Given the description of an element on the screen output the (x, y) to click on. 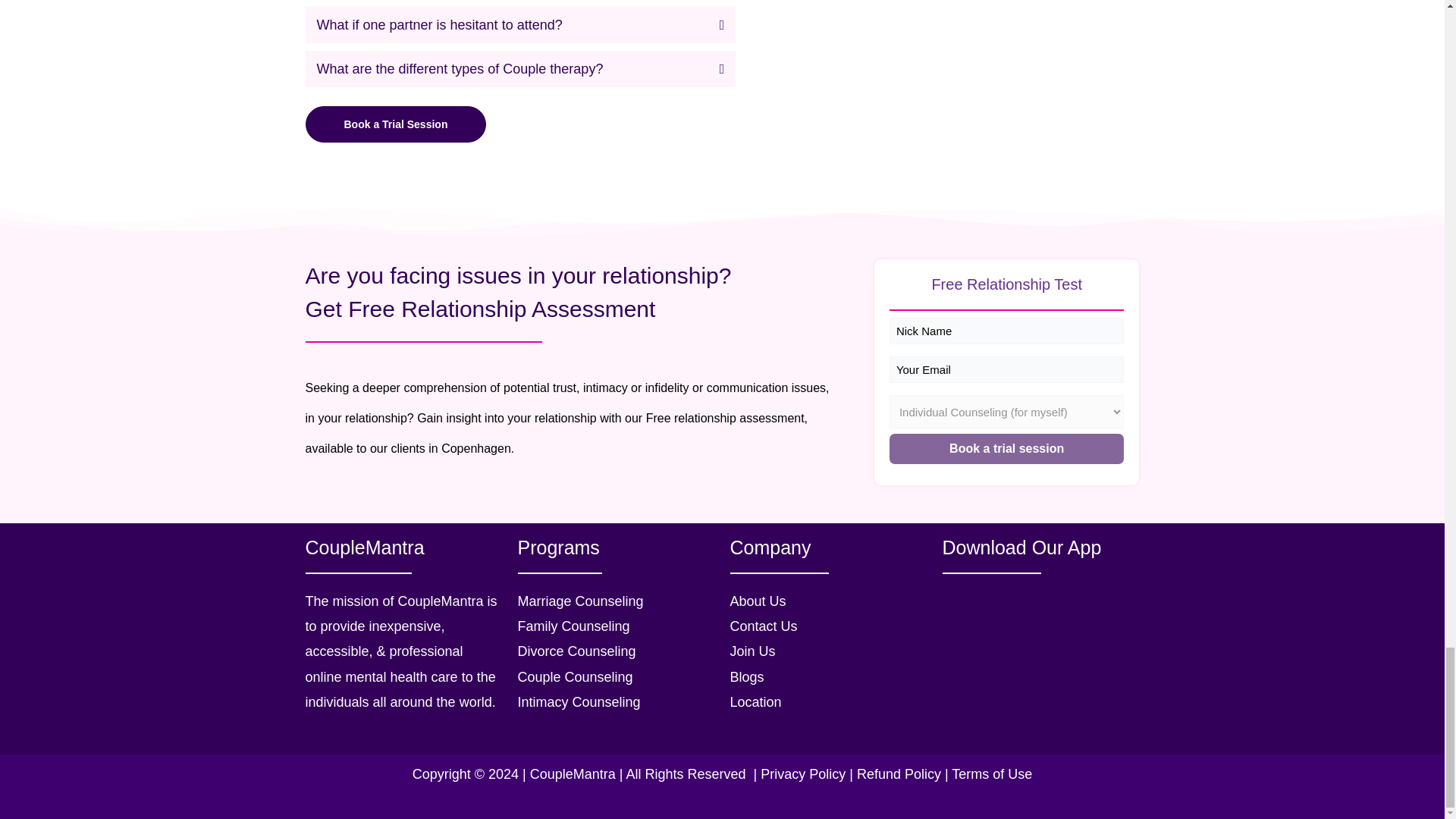
Book a trial session (1006, 449)
